Given the description of an element on the screen output the (x, y) to click on. 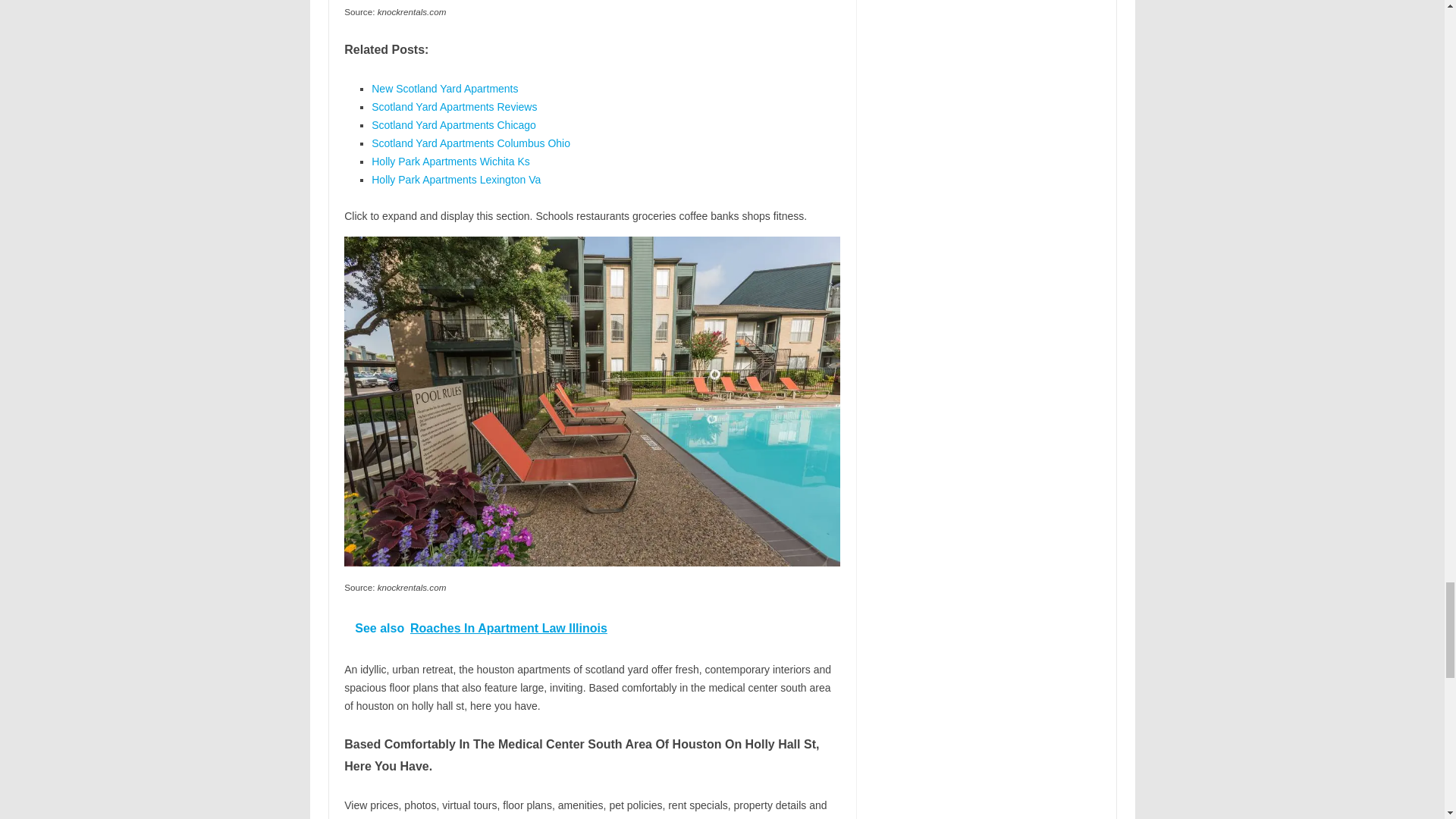
Holly Park Apartments Lexington Va (455, 179)
Scotland Yard Apartments Chicago (453, 124)
See also  Roaches In Apartment Law Illinois (591, 628)
New Scotland Yard Apartments (444, 88)
Holly Park Apartments Wichita Ks (450, 161)
Scotland Yard Apartments Columbus Ohio (470, 143)
Scotland Yard Apartments Reviews (454, 106)
